Given the description of an element on the screen output the (x, y) to click on. 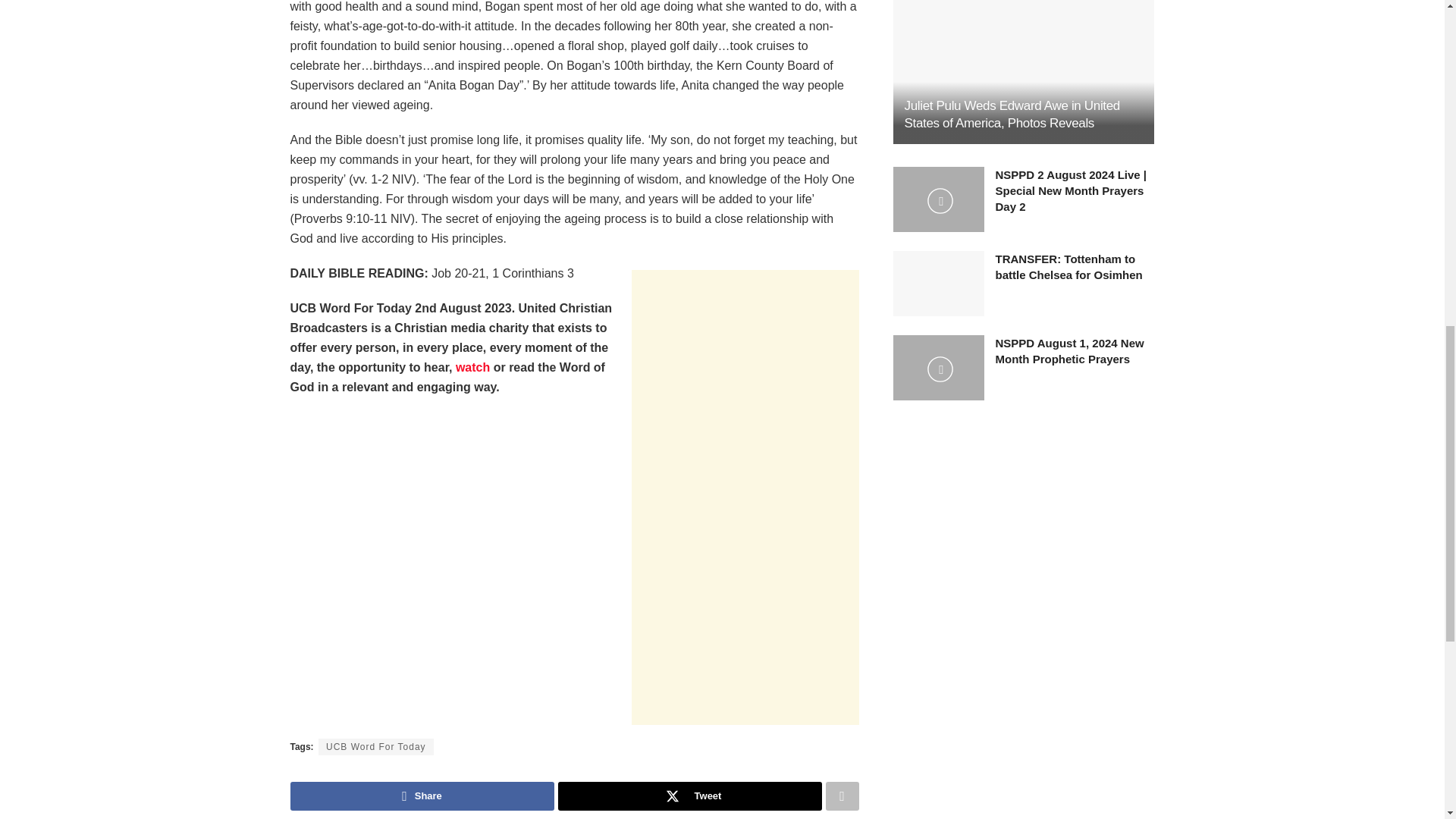
Tweet (689, 796)
UCB Word For Today (375, 746)
Share (421, 796)
watch (472, 367)
